Given the description of an element on the screen output the (x, y) to click on. 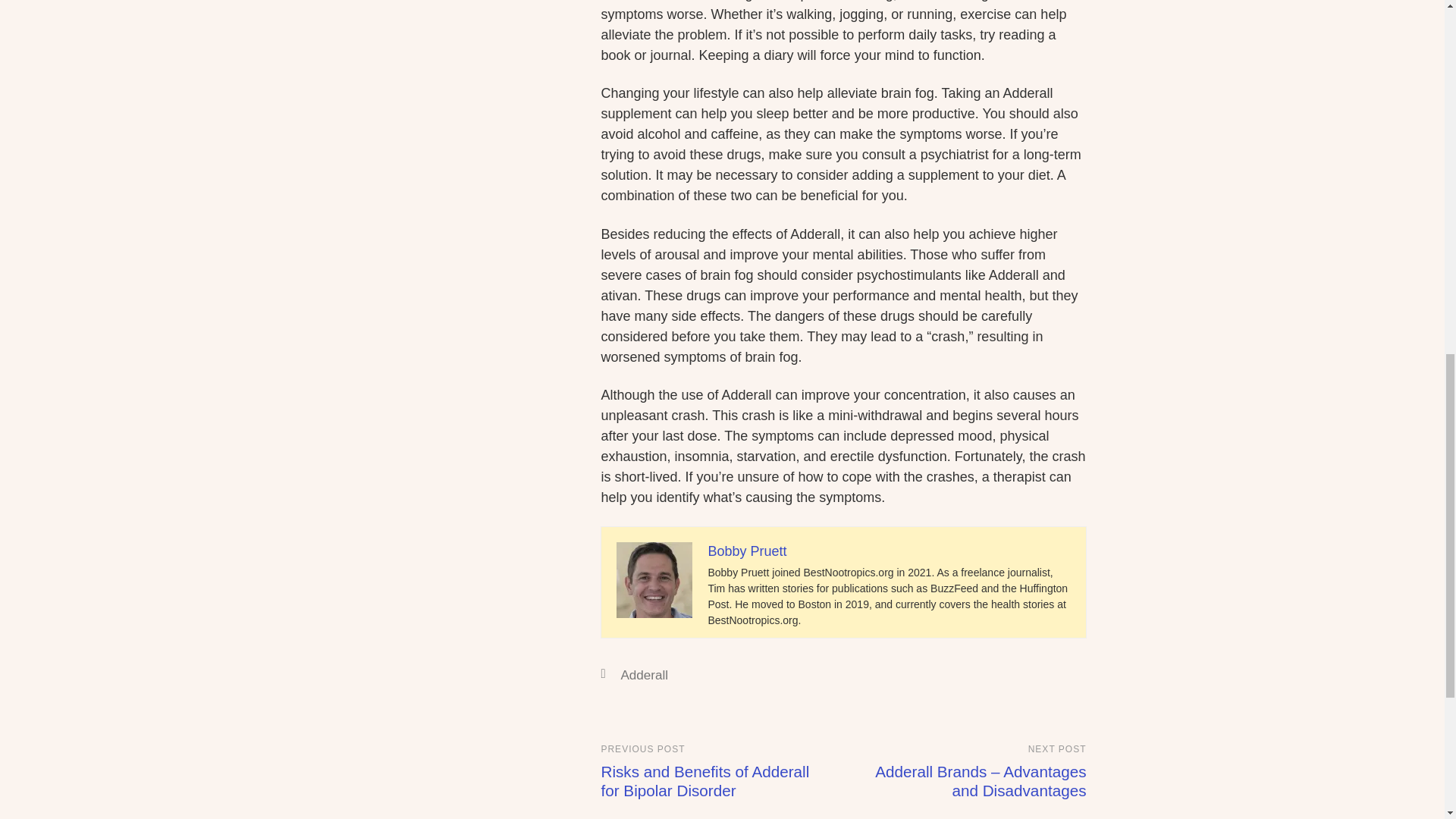
Bobby Pruett (746, 550)
Adderall (644, 675)
